Given the description of an element on the screen output the (x, y) to click on. 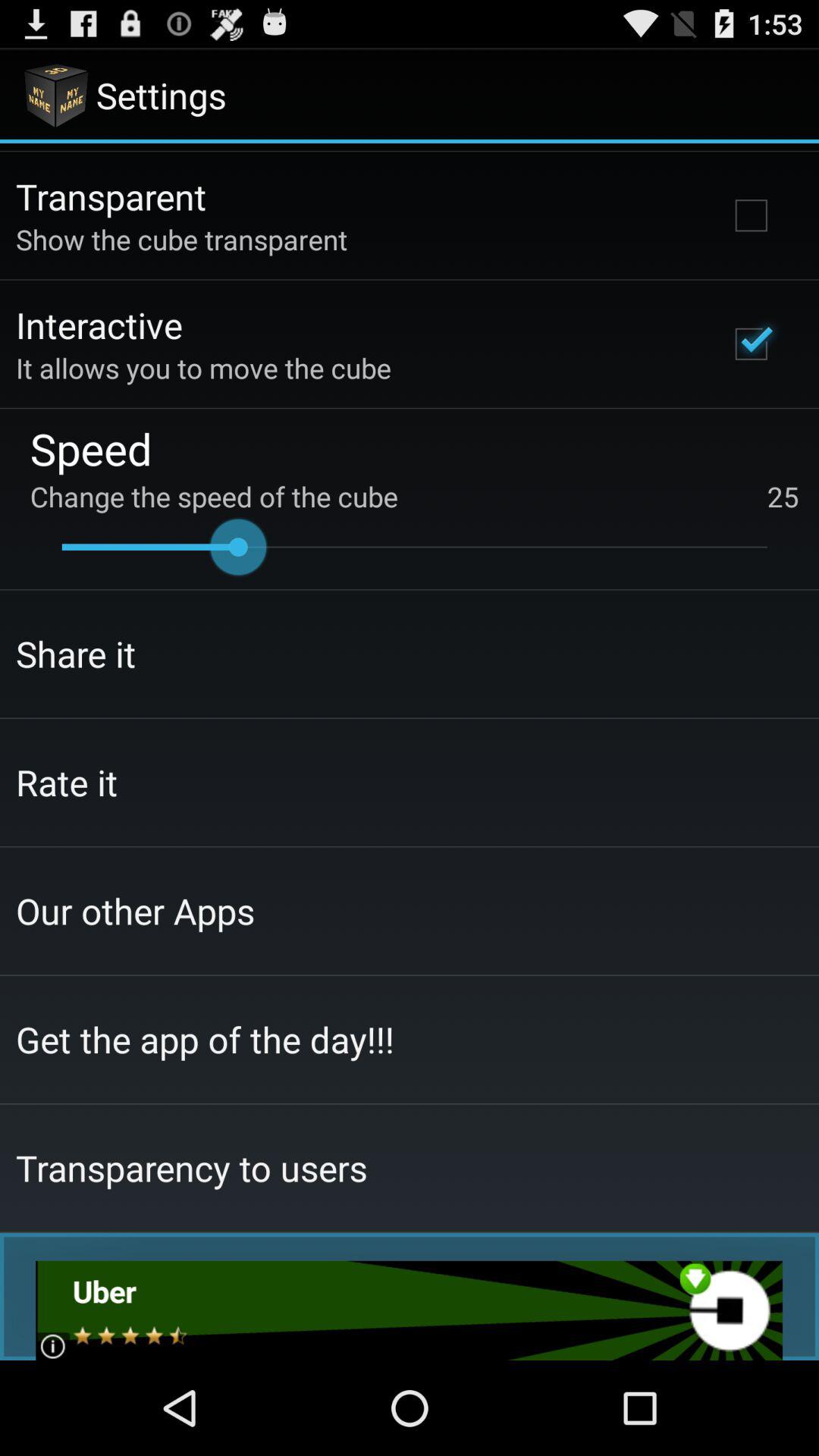
open the it allows you app (203, 367)
